Given the description of an element on the screen output the (x, y) to click on. 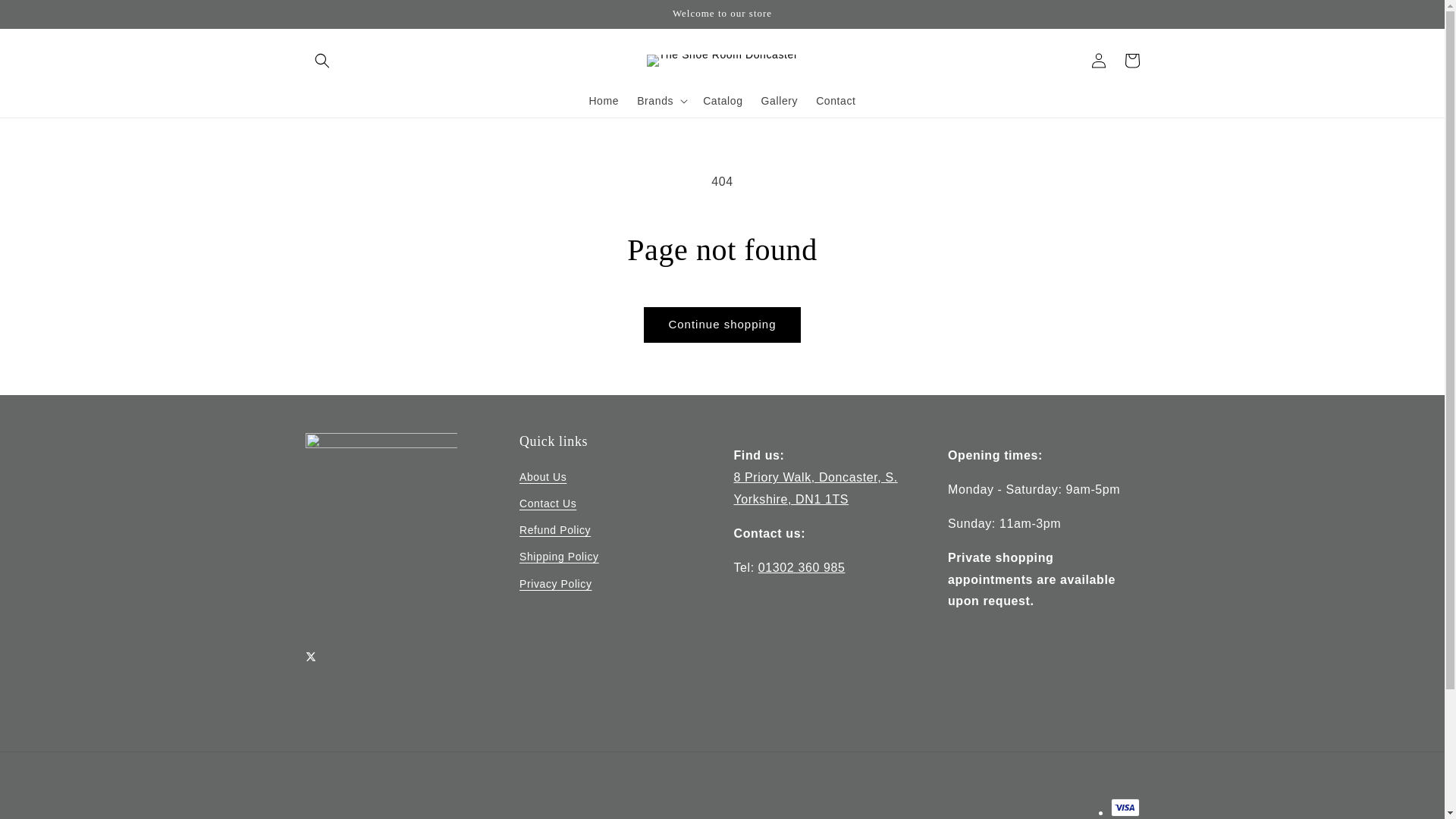
Visa (1123, 807)
Skip to content (45, 16)
tel:01302360985 (801, 567)
